Given the description of an element on the screen output the (x, y) to click on. 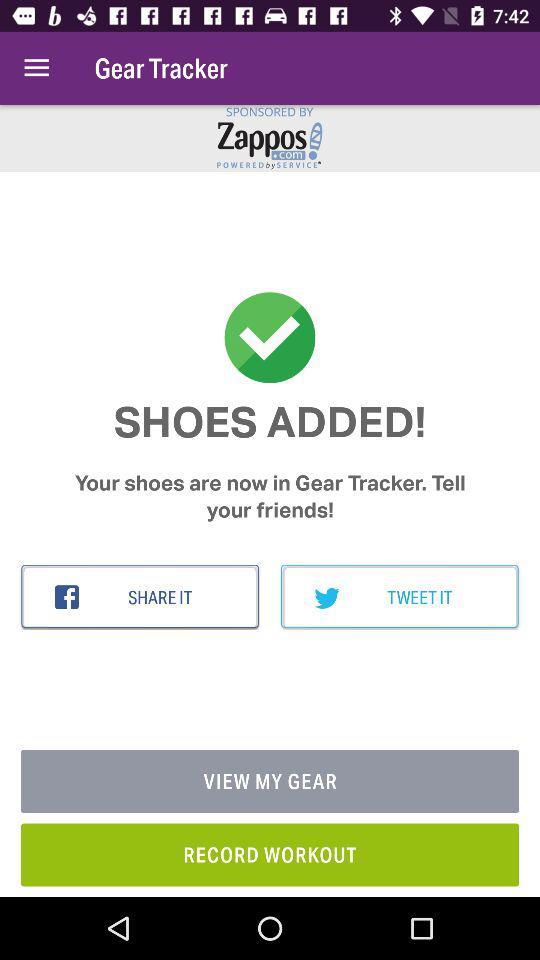
tap the view my gear (270, 781)
